Given the description of an element on the screen output the (x, y) to click on. 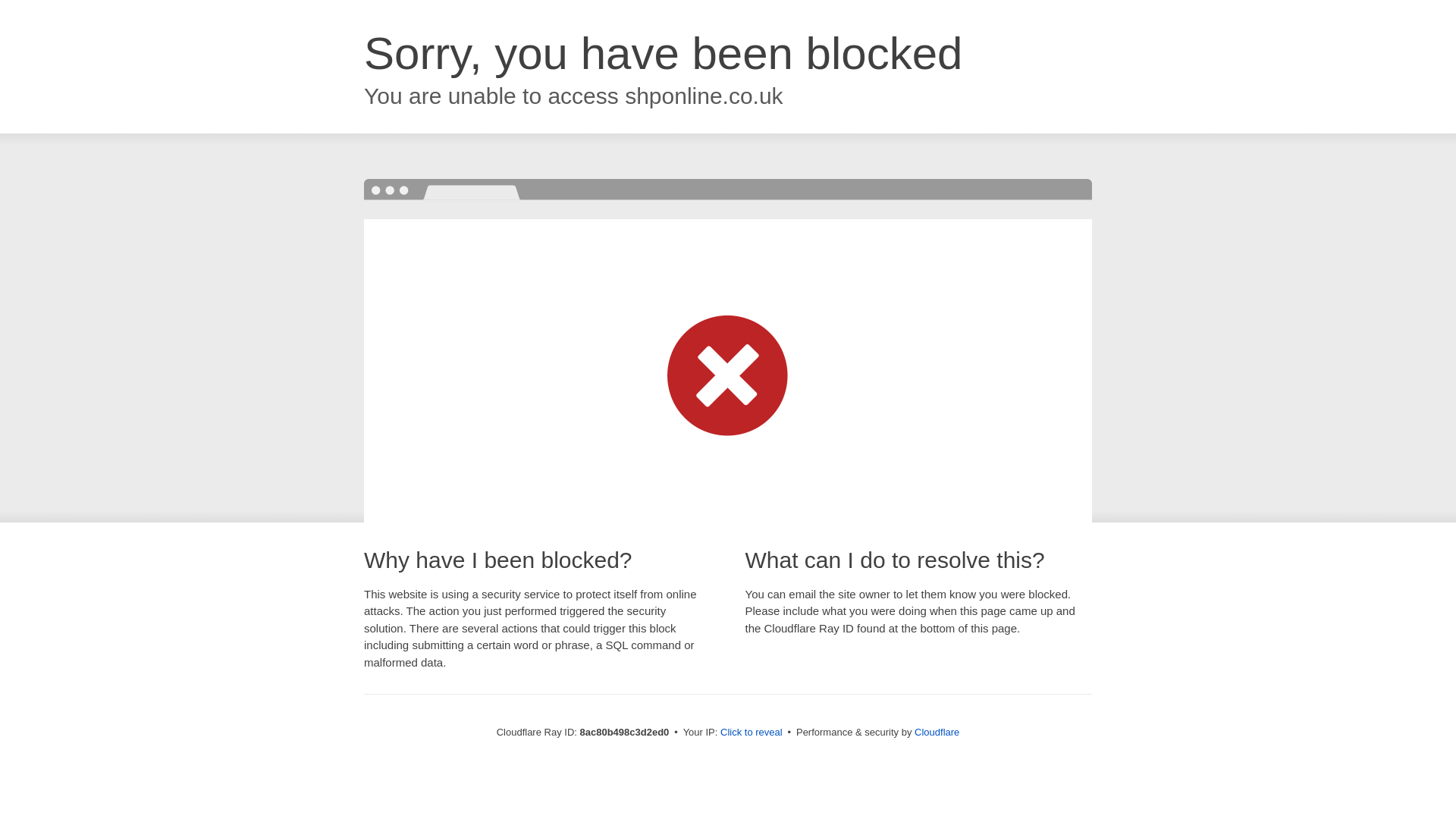
Cloudflare (936, 731)
Click to reveal (751, 732)
